Given the description of an element on the screen output the (x, y) to click on. 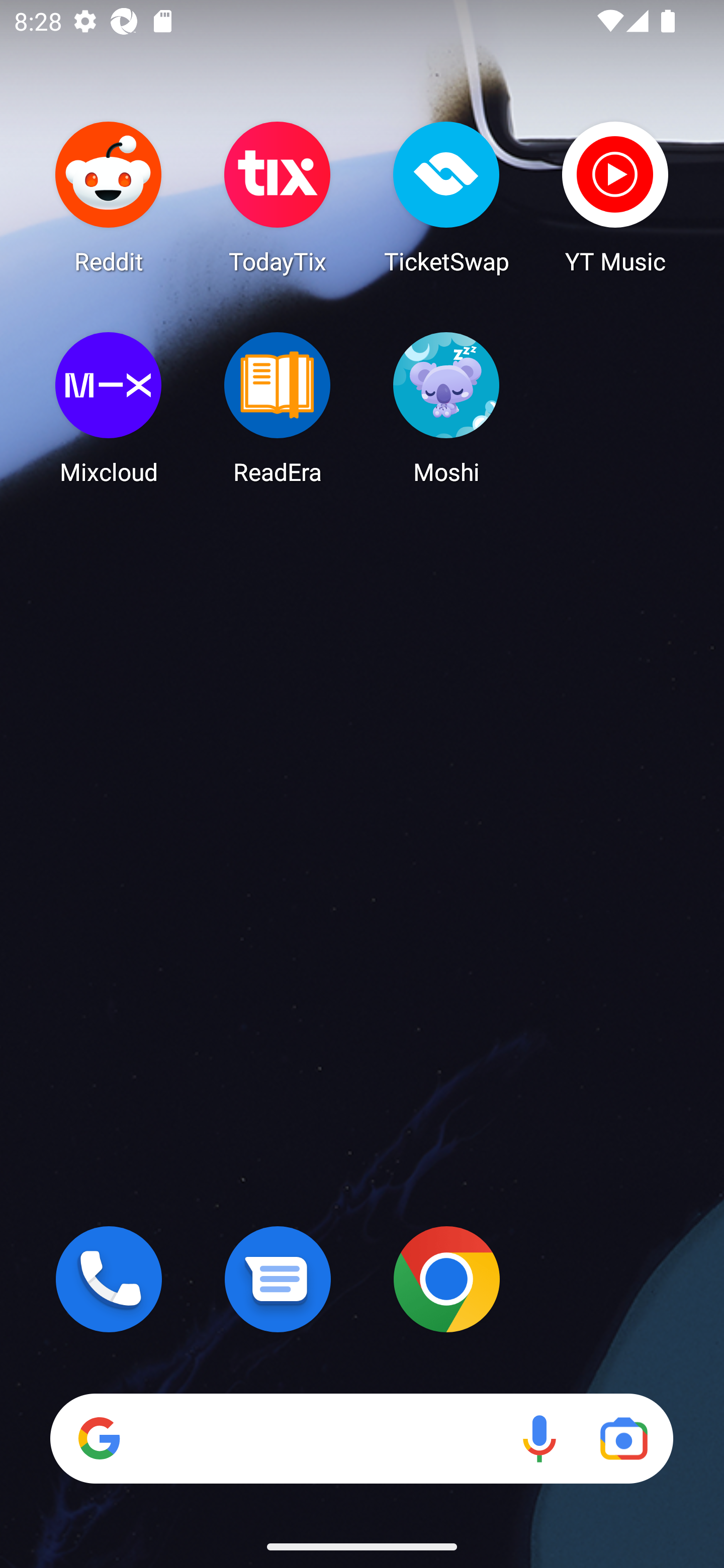
Reddit (108, 196)
TodayTix (277, 196)
TicketSwap (445, 196)
YT Music (615, 196)
Mixcloud (108, 407)
ReadEra (277, 407)
Moshi (445, 407)
Phone (108, 1279)
Messages (277, 1279)
Chrome (446, 1279)
Voice search (539, 1438)
Google Lens (623, 1438)
